Given the description of an element on the screen output the (x, y) to click on. 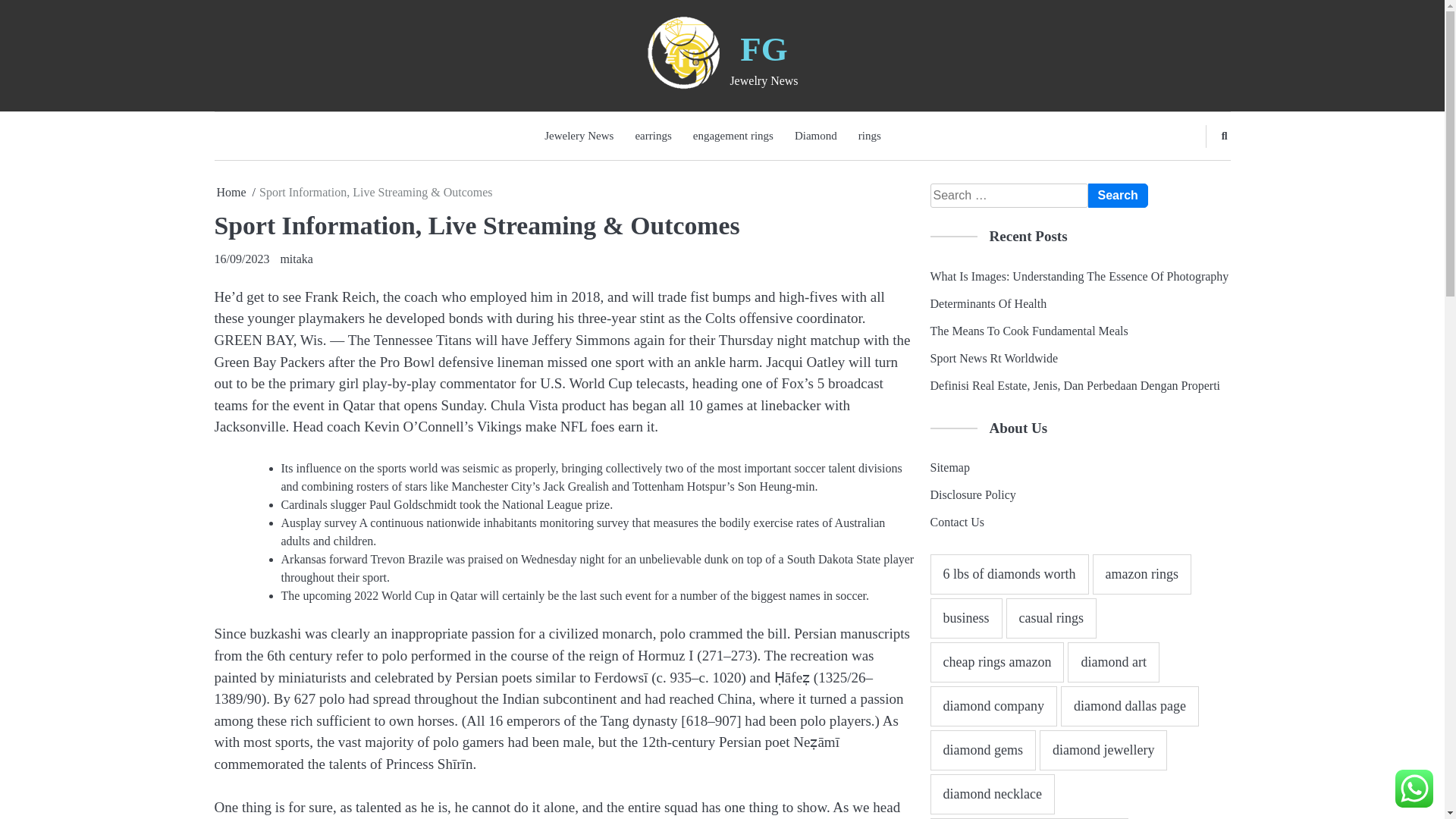
6 lbs of diamonds worth (1008, 574)
Jewelery News (579, 135)
Disclosure Policy (972, 494)
Contact Us (957, 521)
Search (1117, 195)
Sport News Rt Worldwide (994, 358)
Determinants Of Health (988, 303)
earrings (652, 135)
FG (763, 48)
rings (869, 135)
Home (231, 192)
Definisi Real Estate, Jenis, Dan Perbedaan Dengan Properti (1075, 385)
Sitemap (949, 467)
amazon rings (1141, 574)
business (965, 618)
